Given the description of an element on the screen output the (x, y) to click on. 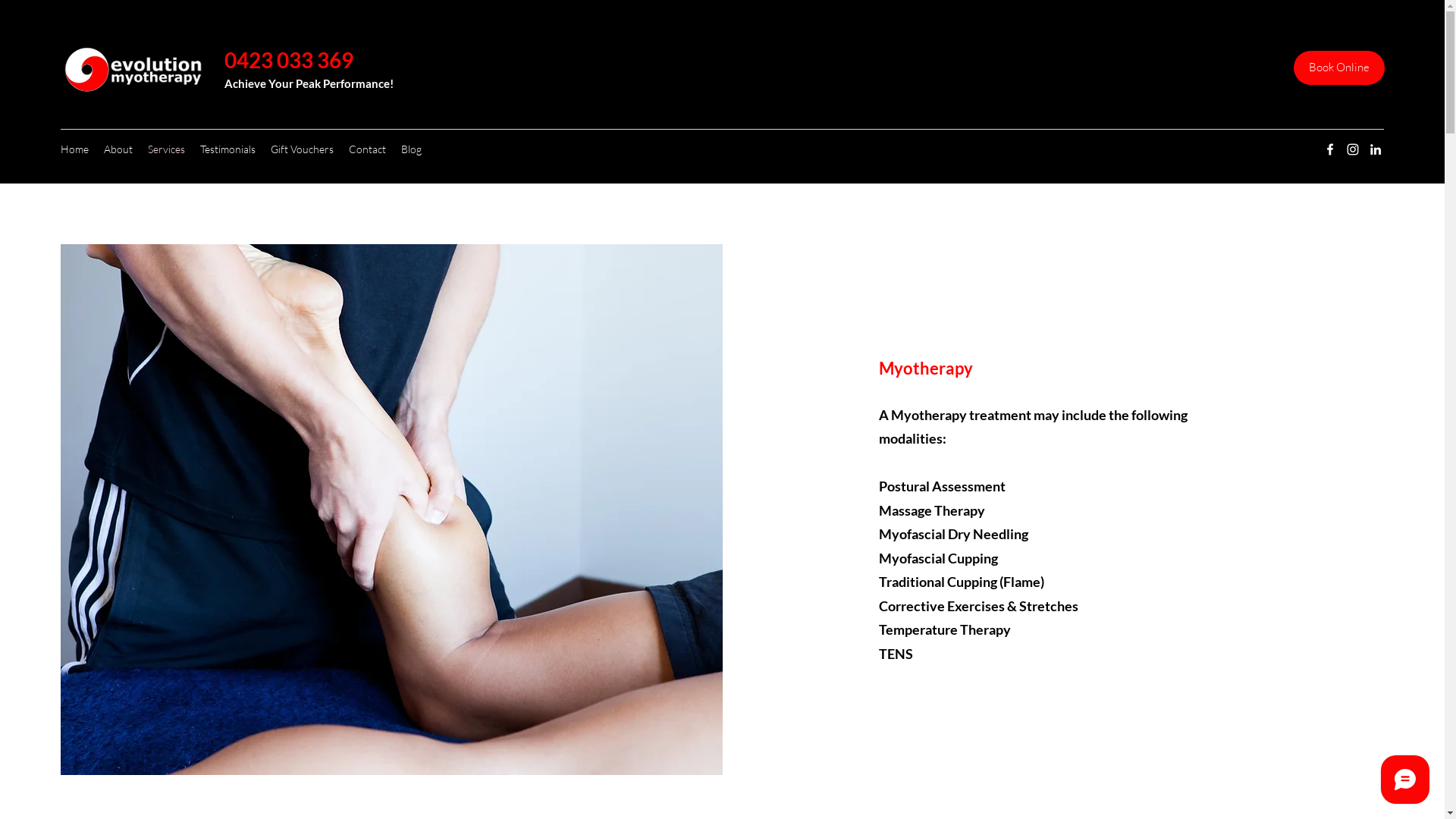
Home Element type: text (74, 149)
Services Element type: text (166, 149)
Testimonials Element type: text (227, 149)
About Element type: text (118, 149)
Blog Element type: text (411, 149)
Contact Element type: text (367, 149)
Gift Vouchers Element type: text (302, 149)
Book Online Element type: text (1338, 67)
